Given the description of an element on the screen output the (x, y) to click on. 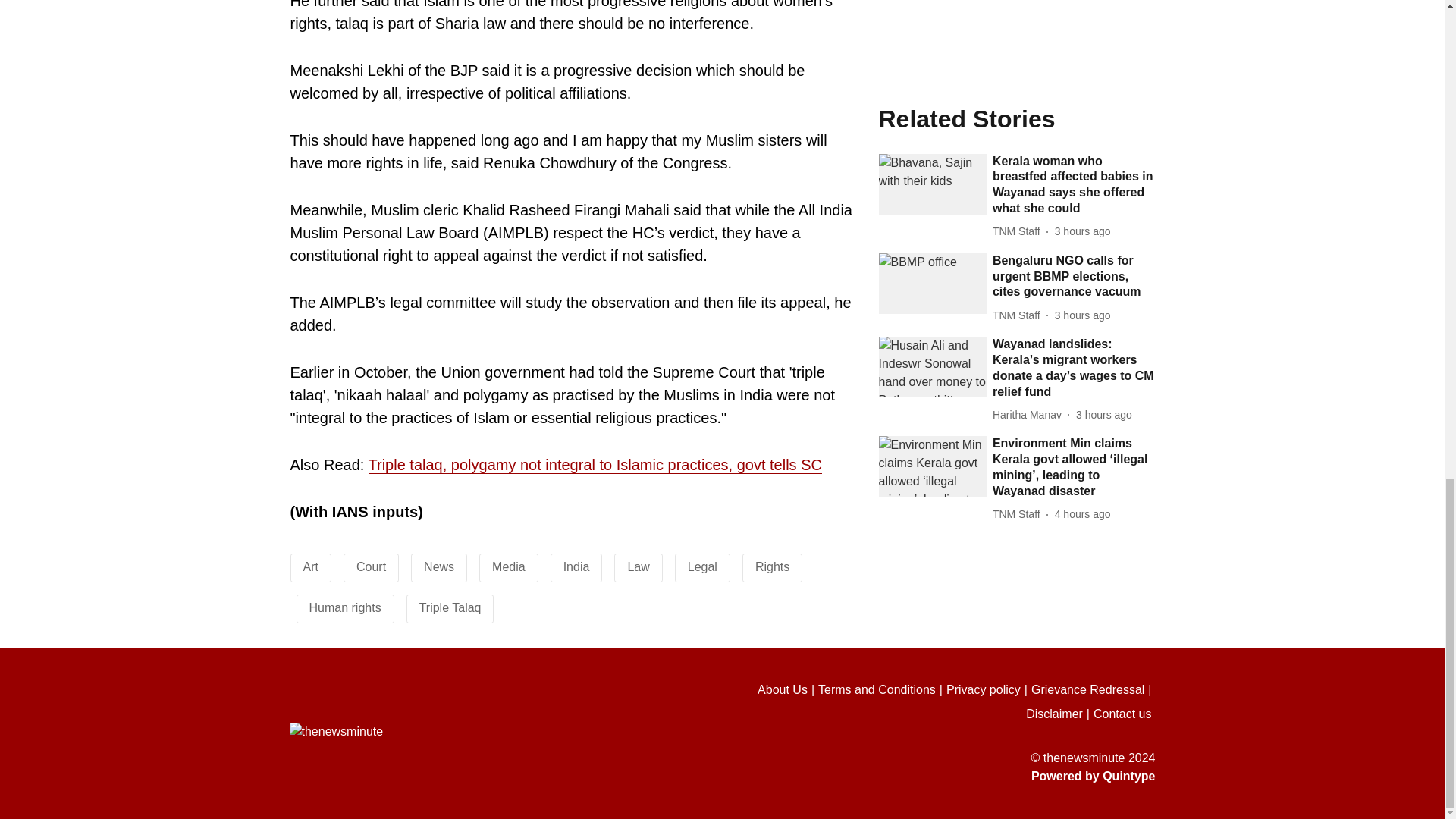
Legal (702, 566)
India (576, 566)
Court (370, 566)
Law (638, 566)
Media (508, 566)
Triple Talaq (450, 607)
Human rights (344, 607)
News (438, 566)
Rights (772, 566)
Art (310, 566)
